Given the description of an element on the screen output the (x, y) to click on. 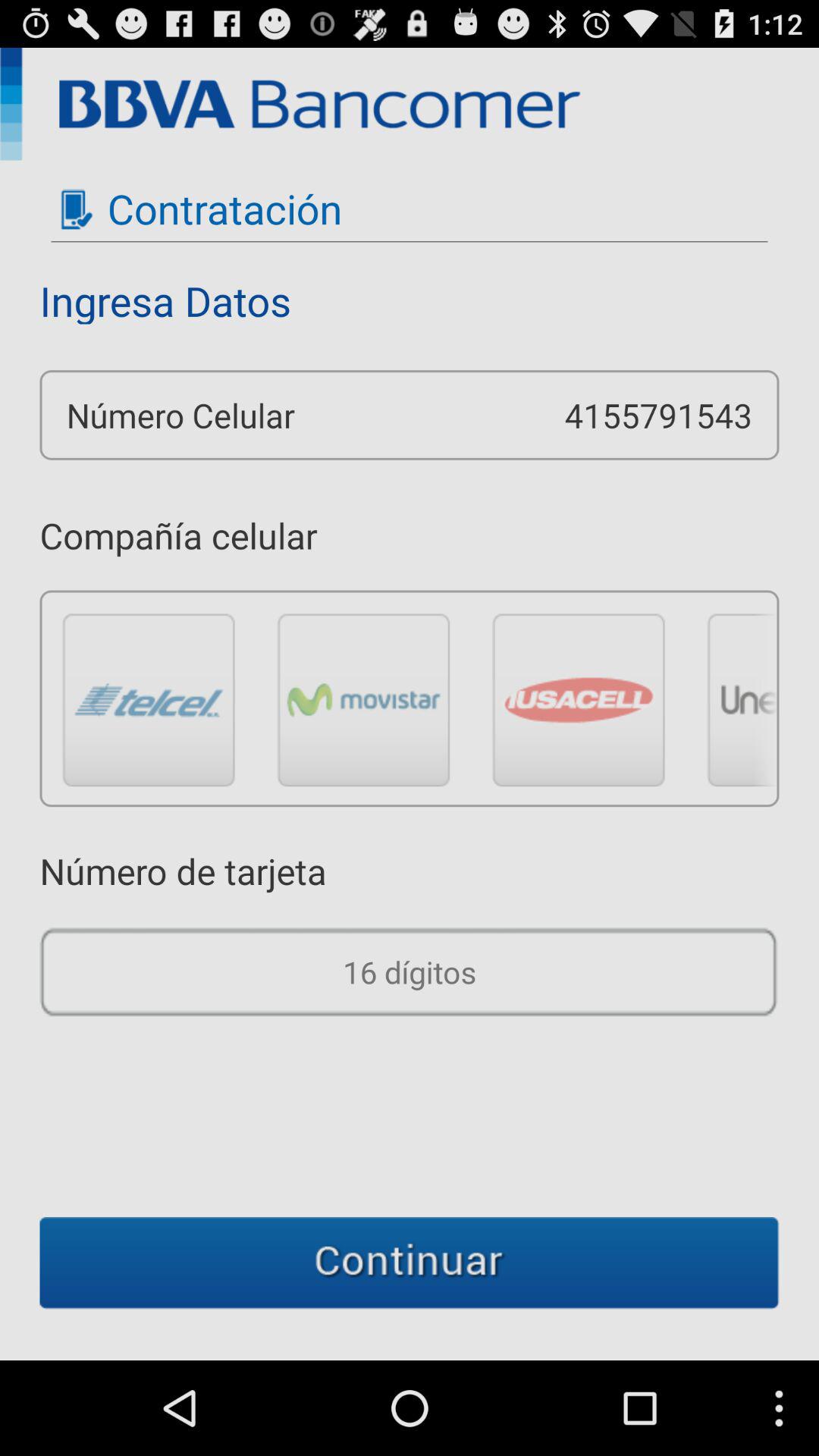
choose the option (148, 699)
